Given the description of an element on the screen output the (x, y) to click on. 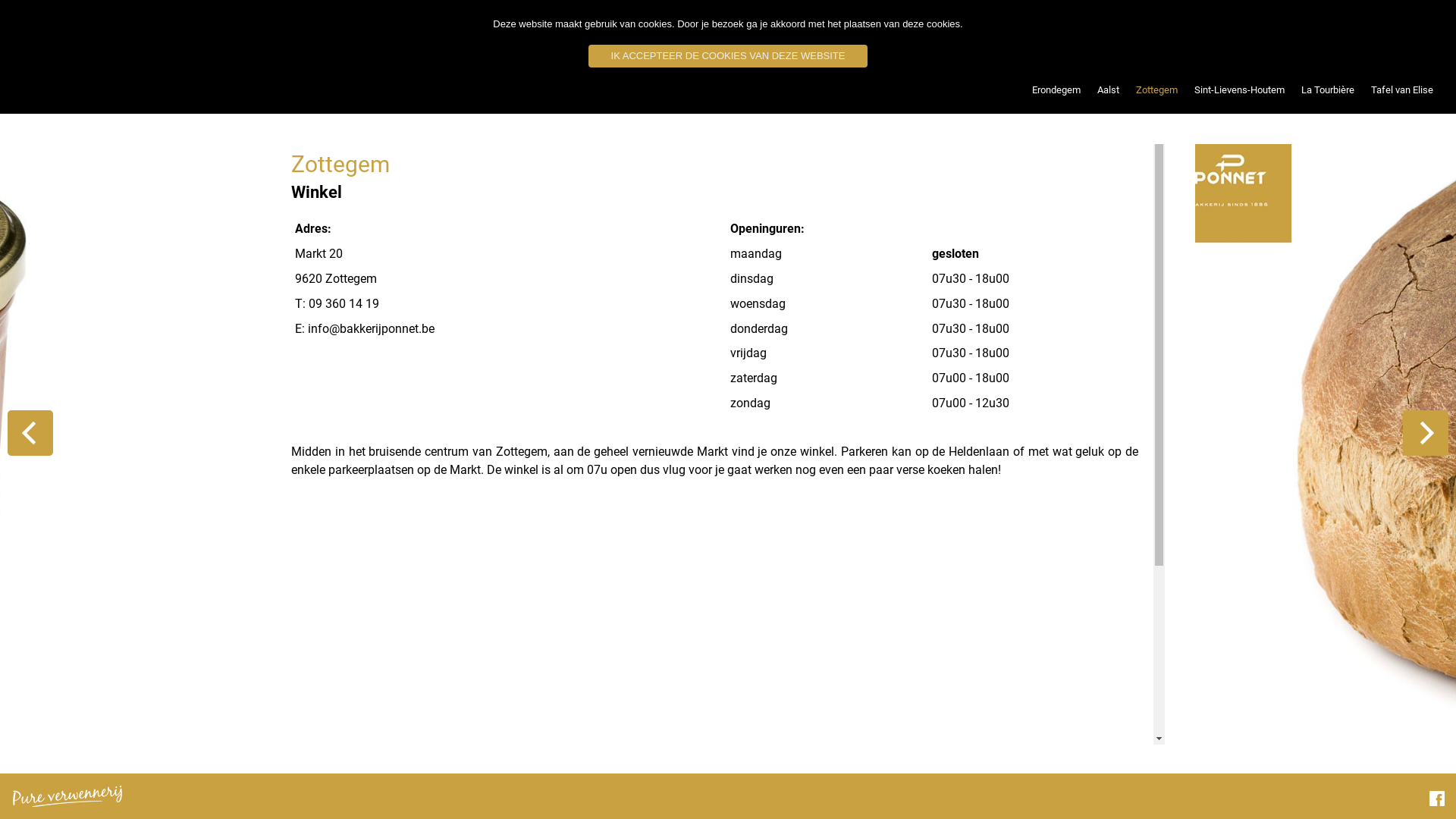
Aalst Element type: text (1107, 90)
CONTACT Element type: text (1407, 34)
Zottegem Element type: text (1156, 90)
info@bakkerijponnet.be Element type: text (370, 328)
09 360 14 19 Element type: text (343, 303)
JOBS Element type: text (1343, 34)
SINDS 1886 Element type: text (1274, 34)
Tafel van Elise Element type: text (1401, 90)
Ik accepteer de cookies van deze website Element type: text (728, 55)
Sint-Lievens-Houtem Element type: text (1239, 90)
Erondegem Element type: text (1055, 90)
HOME Element type: text (1024, 34)
BESTEL ONLINE! Element type: text (1107, 34)
WINKELS Element type: text (1197, 34)
